Given the description of an element on the screen output the (x, y) to click on. 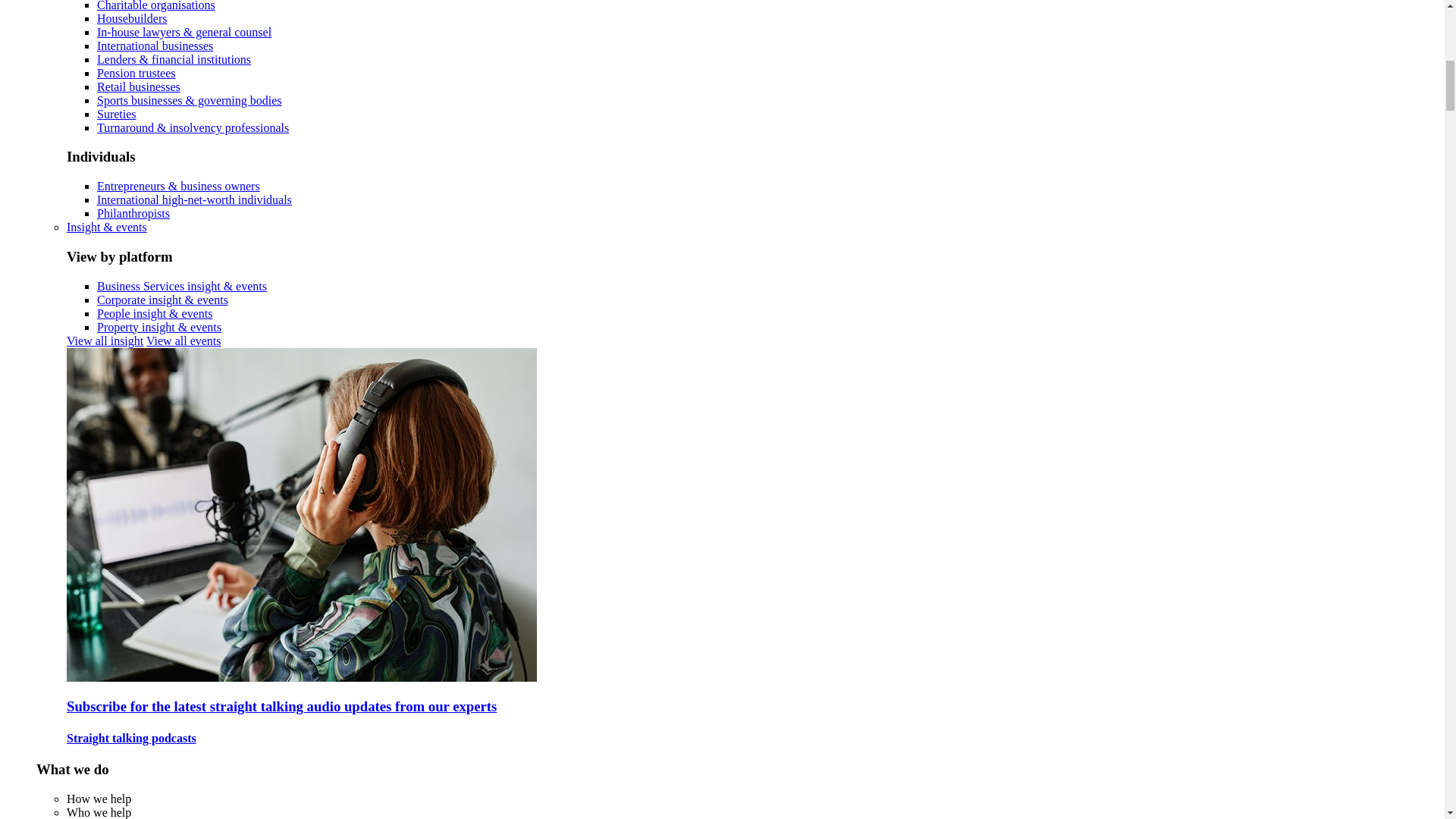
Retail businesses (138, 86)
International businesses (154, 45)
Charitable organisations (156, 5)
International high-net-worth individuals (194, 199)
Housebuilders (132, 18)
Sureties (116, 113)
Pension trustees (136, 72)
Philanthropists (133, 213)
